Given the description of an element on the screen output the (x, y) to click on. 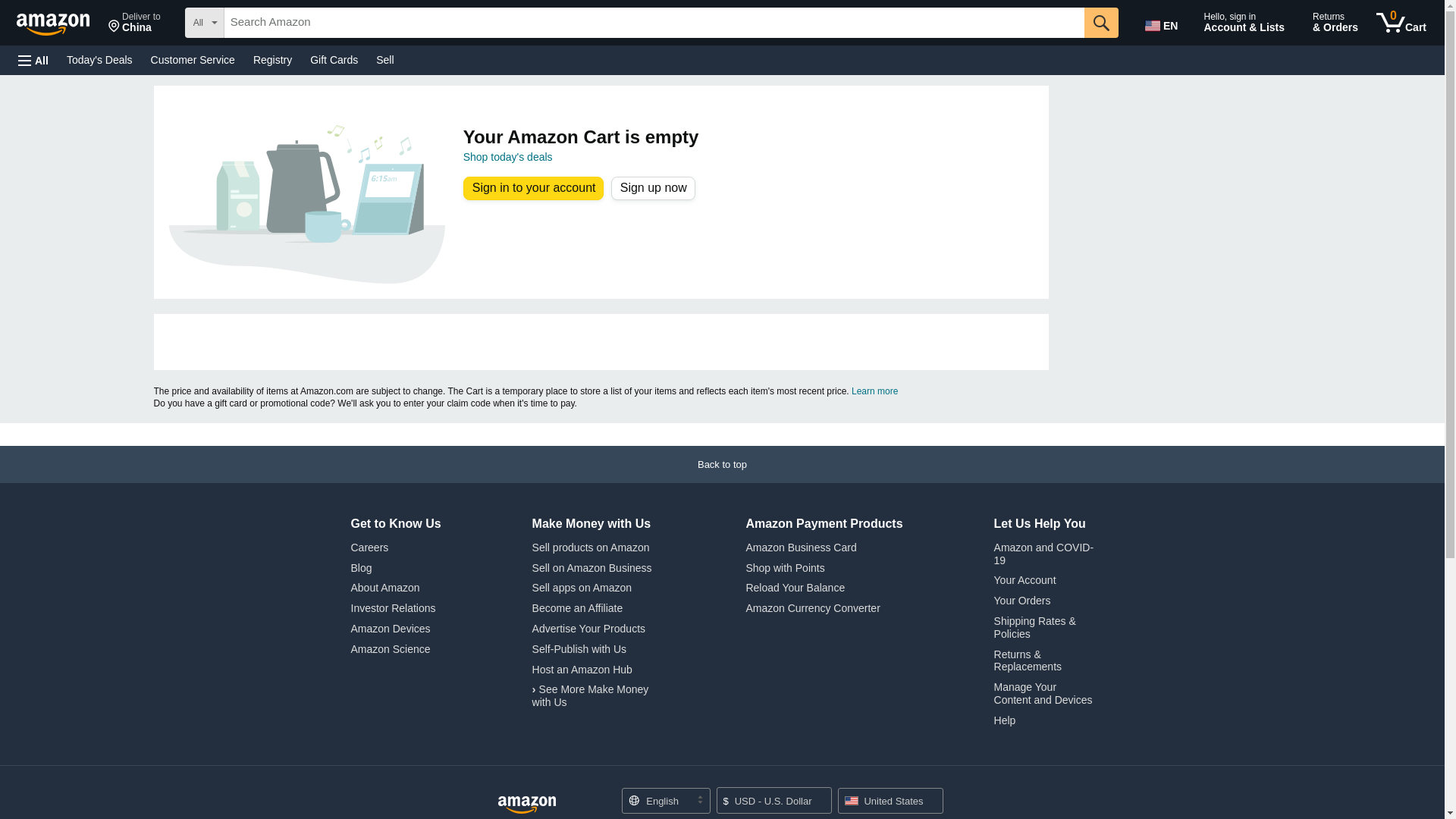
Skip to main content (60, 21)
Careers (369, 547)
Sign in to your account (534, 188)
Go (1101, 22)
Sell products on Amazon (590, 547)
Become an Affiliate (577, 607)
Amazon Science (389, 648)
Investor Relations (392, 607)
Customer Service (192, 59)
EN (1163, 22)
About Amazon (384, 587)
Go (1101, 22)
Blog (360, 567)
Today's Deals (99, 59)
